Given the description of an element on the screen output the (x, y) to click on. 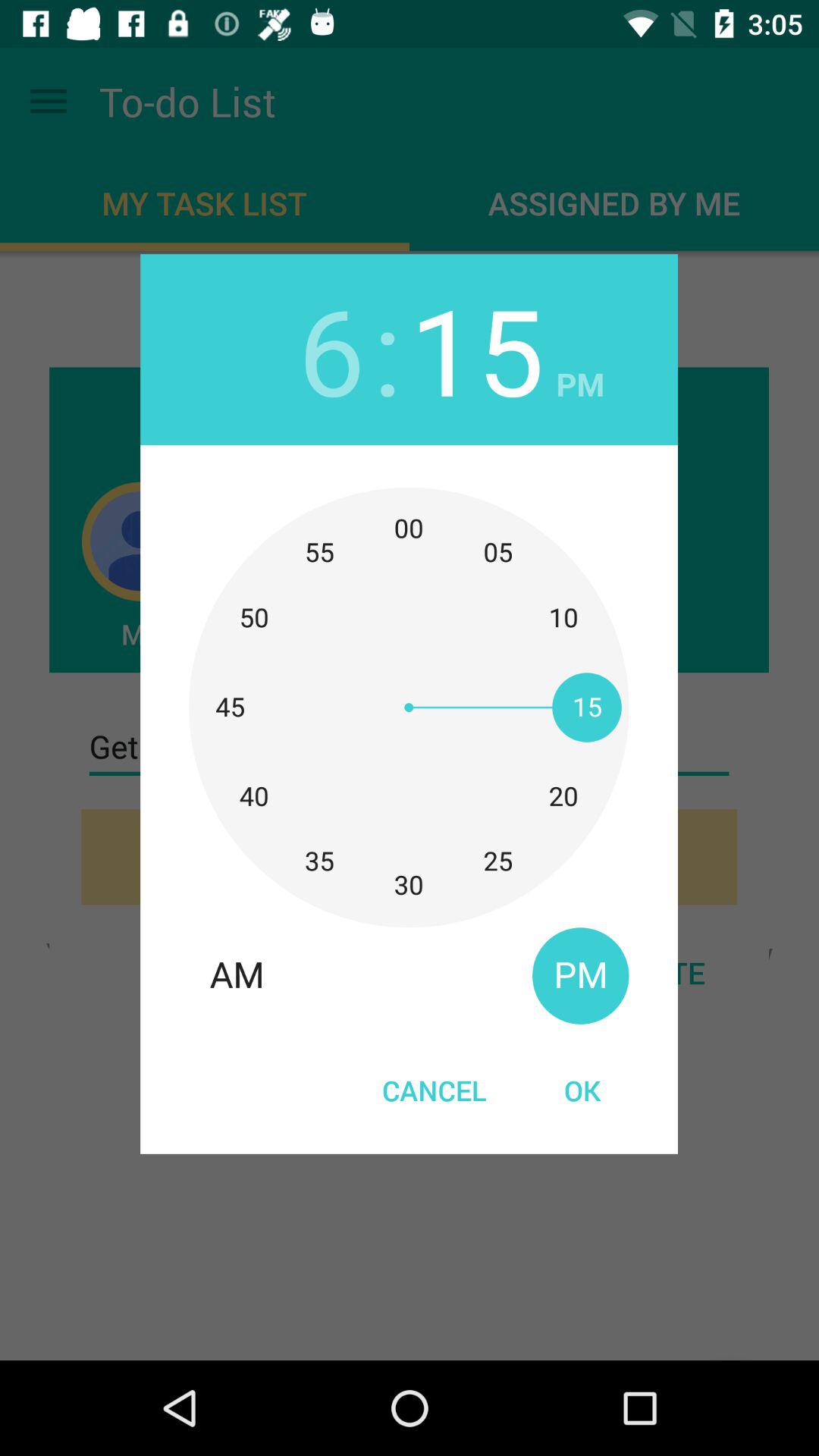
choose 15 (477, 349)
